Given the description of an element on the screen output the (x, y) to click on. 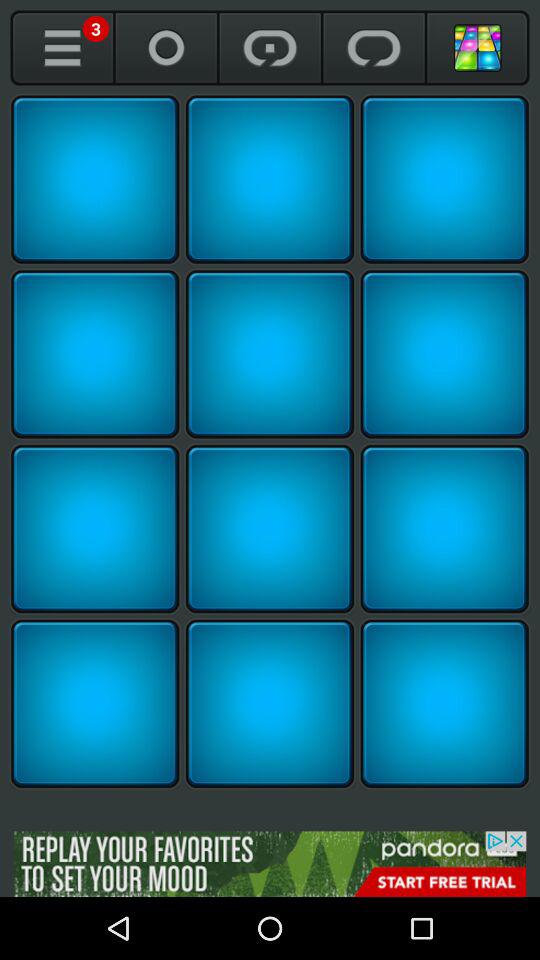
open me (62, 47)
